Given the description of an element on the screen output the (x, y) to click on. 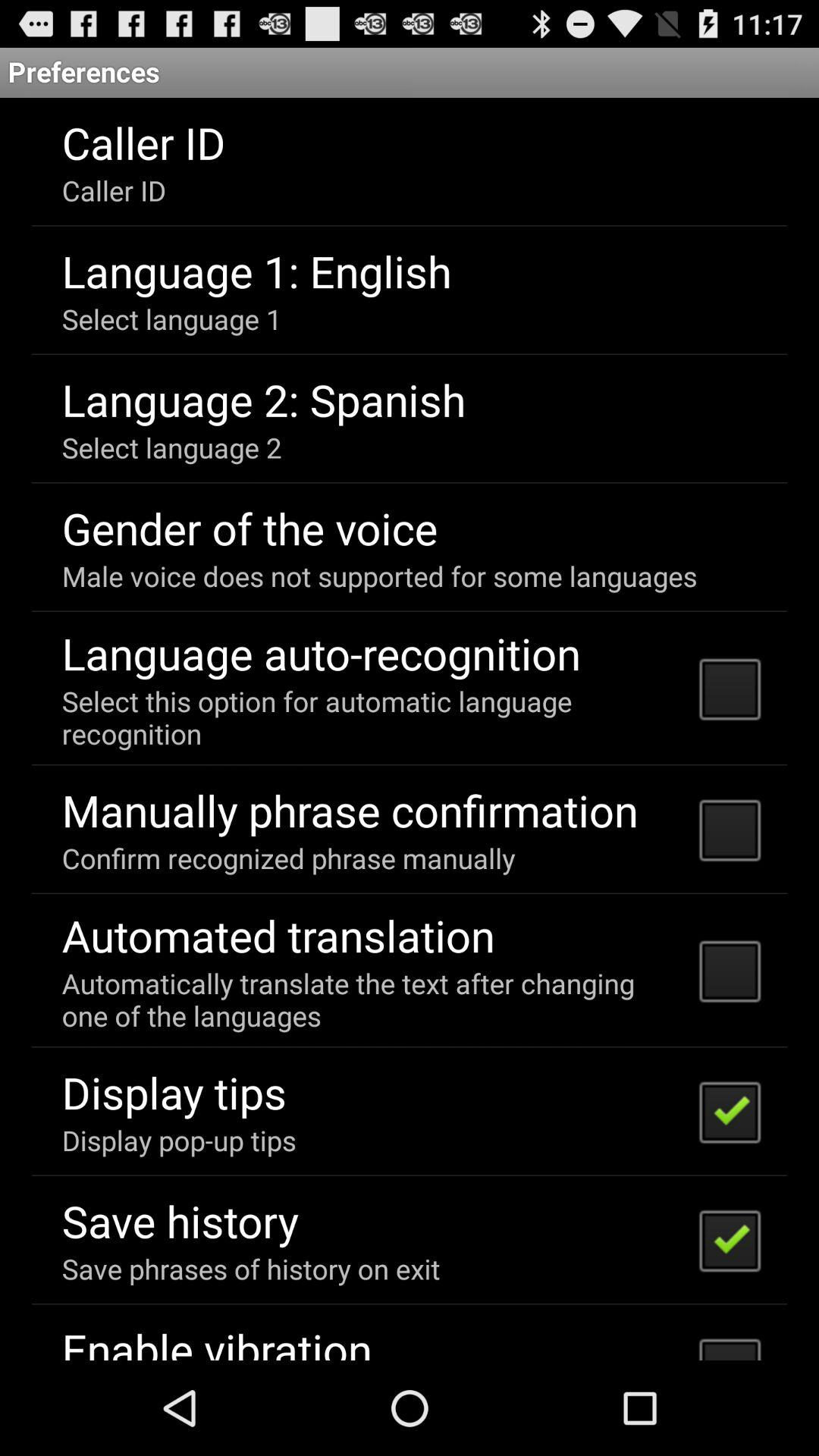
scroll to select this option app (370, 717)
